Given the description of an element on the screen output the (x, y) to click on. 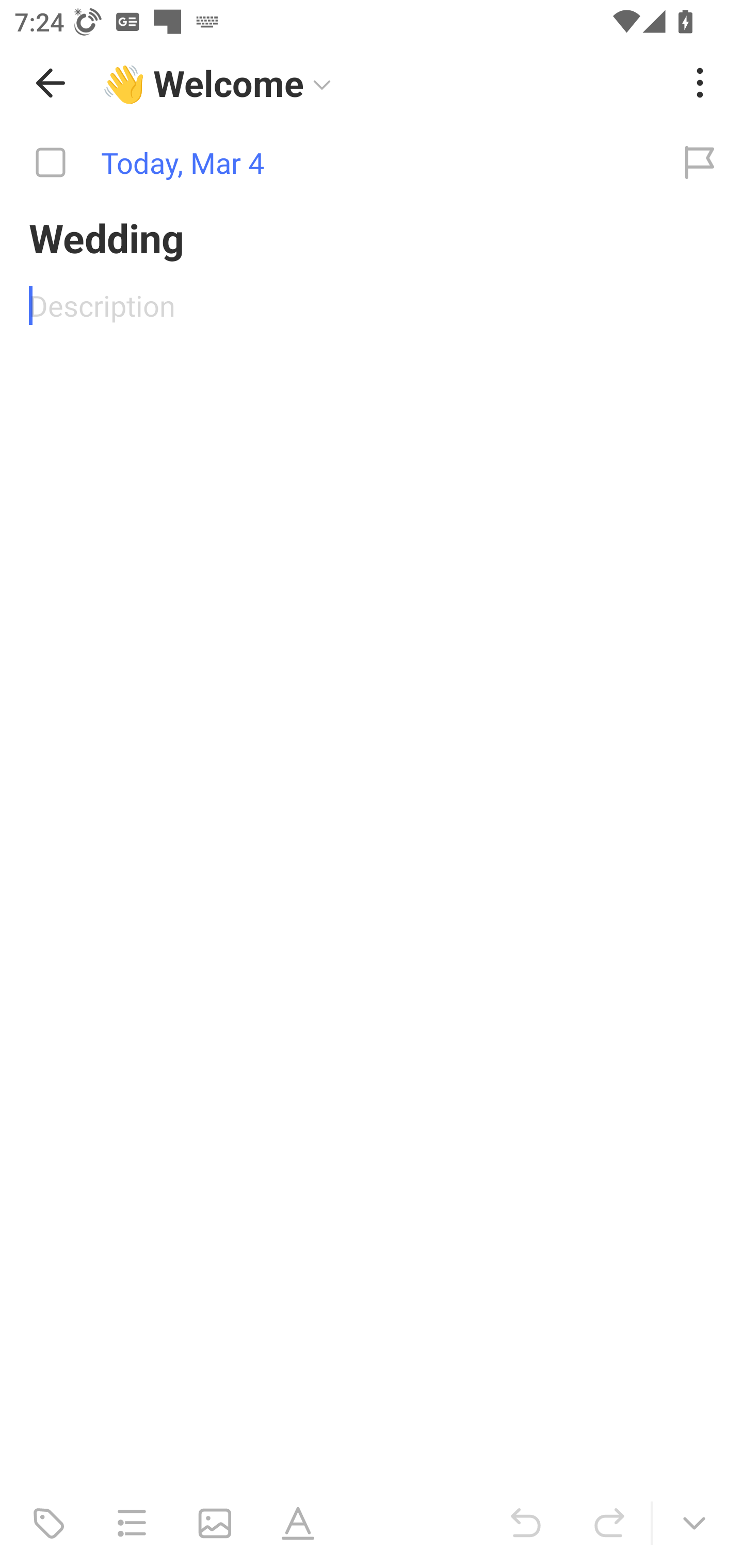
👋 Welcome (384, 82)
Today, Mar 4  (328, 163)
Wedding (371, 237)
Description (371, 304)
